Given the description of an element on the screen output the (x, y) to click on. 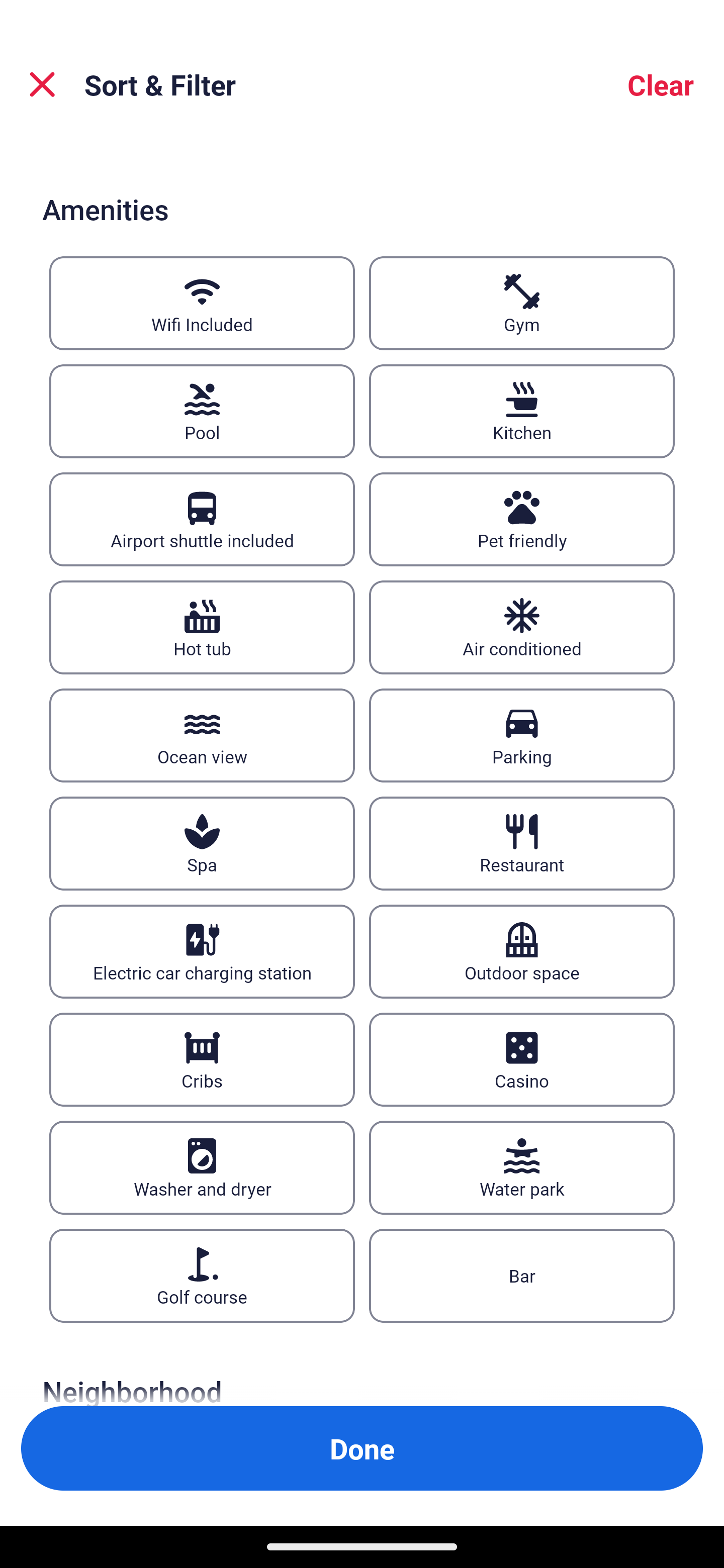
Close Sort and Filter (42, 84)
Clear (660, 84)
Wifi Included (201, 302)
Gym (521, 302)
Pool (201, 410)
Kitchen (521, 410)
Airport shuttle included (201, 518)
Pet friendly (521, 518)
Hot tub (201, 627)
Air conditioned (521, 627)
Ocean view (201, 735)
Parking (521, 735)
Spa (201, 843)
Restaurant (521, 843)
Electric car charging station (201, 951)
Outdoor space (521, 951)
Cribs (201, 1059)
Casino (521, 1059)
Washer and dryer (201, 1168)
Water park (521, 1168)
Golf course (201, 1276)
Bar (521, 1276)
Apply and close Sort and Filter Done (361, 1448)
